Given the description of an element on the screen output the (x, y) to click on. 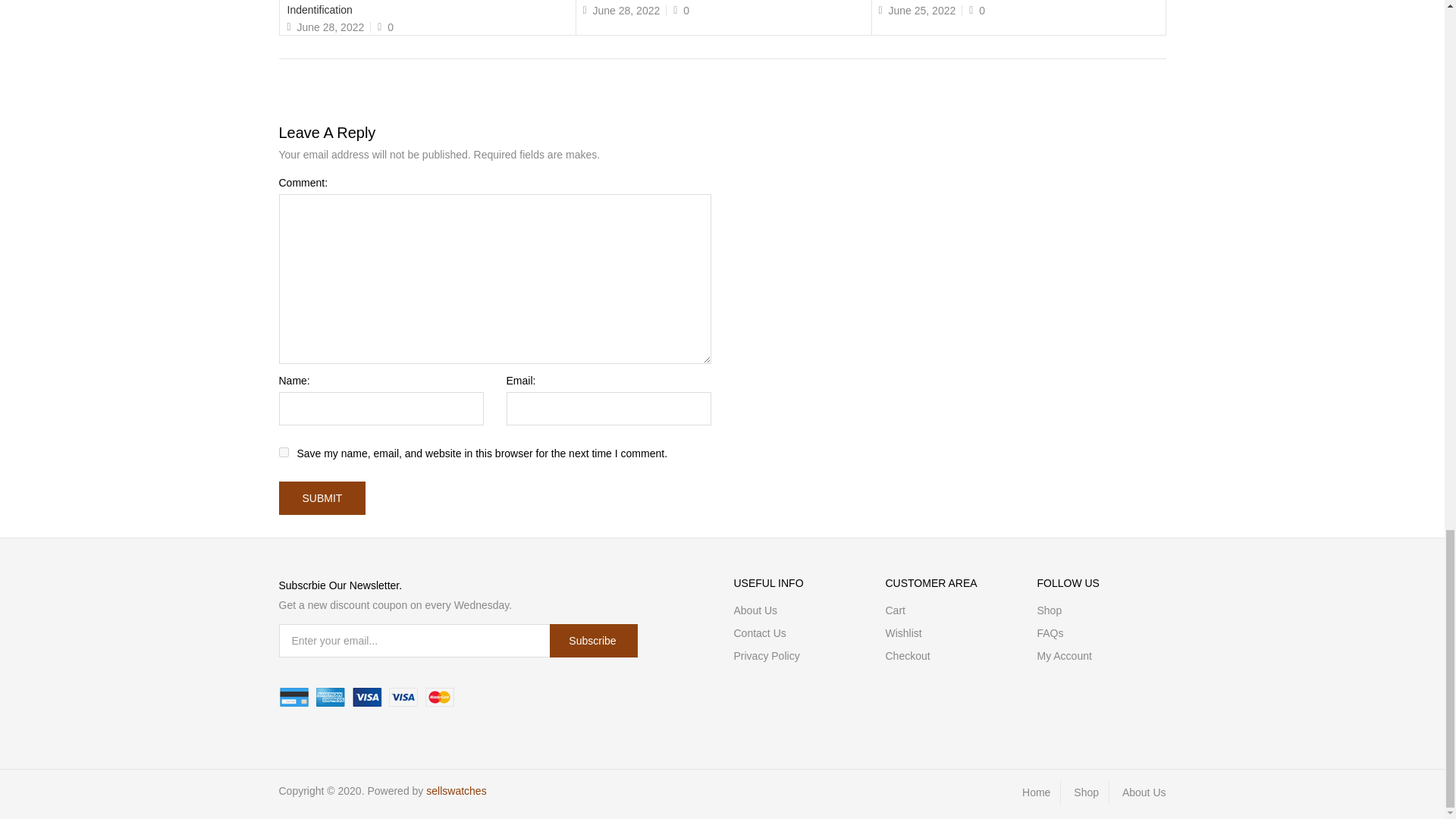
payments (366, 696)
subscribe (593, 640)
yes (283, 452)
submit (322, 498)
